Given the description of an element on the screen output the (x, y) to click on. 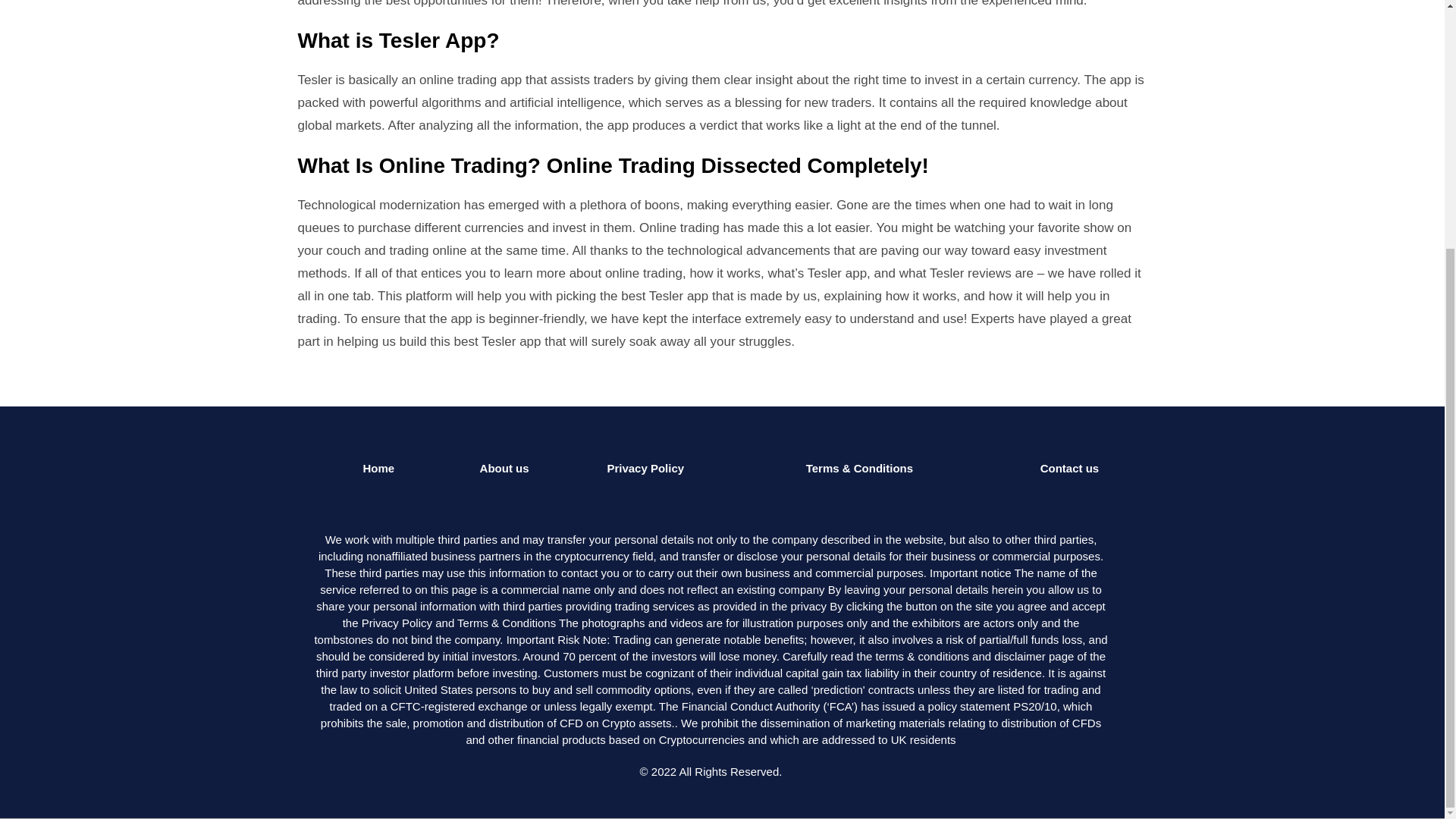
Contact us (1070, 468)
About us (504, 468)
Home (378, 468)
Privacy Policy (645, 468)
